Given the description of an element on the screen output the (x, y) to click on. 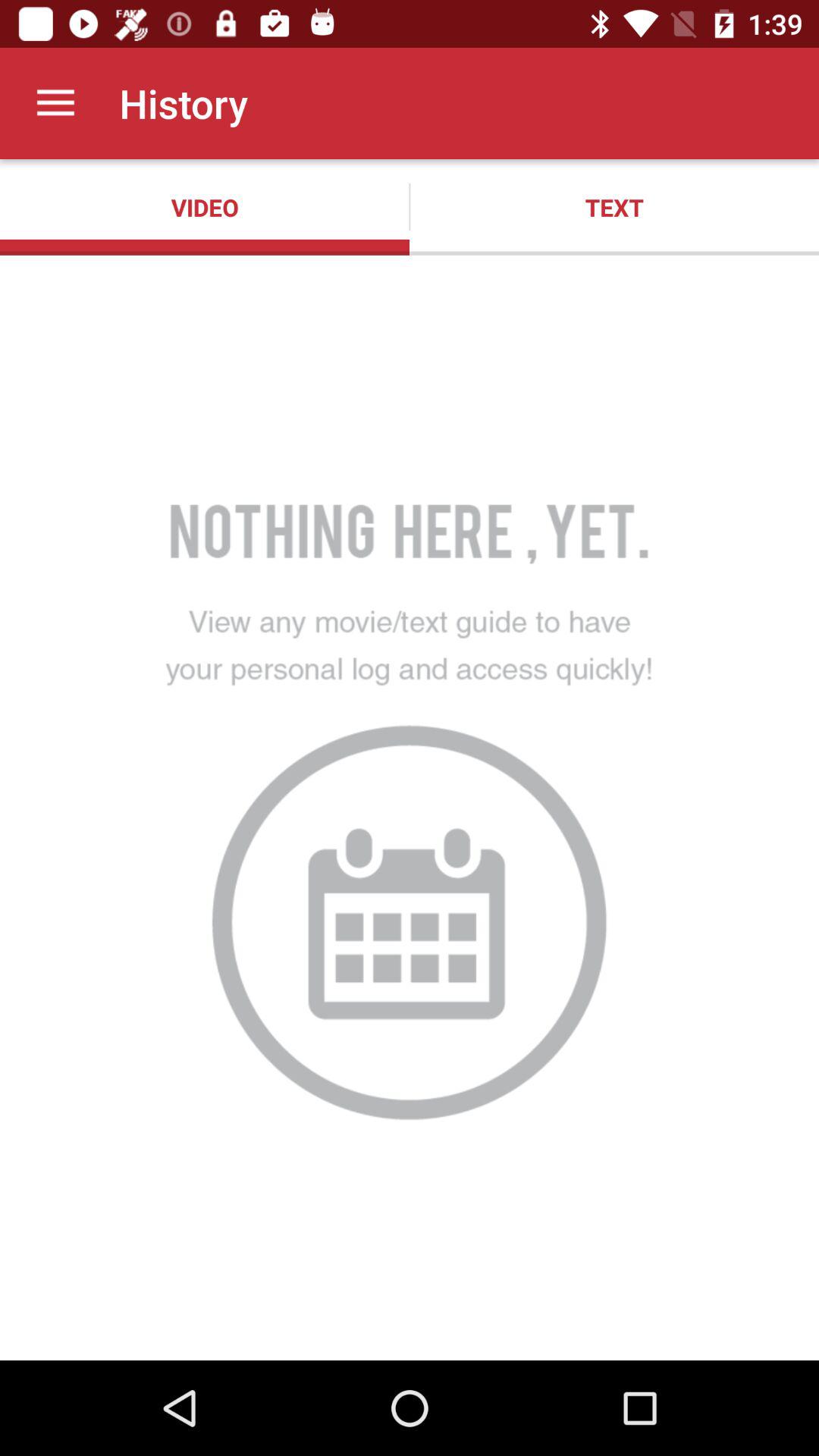
turn on icon at the top right corner (614, 207)
